Given the description of an element on the screen output the (x, y) to click on. 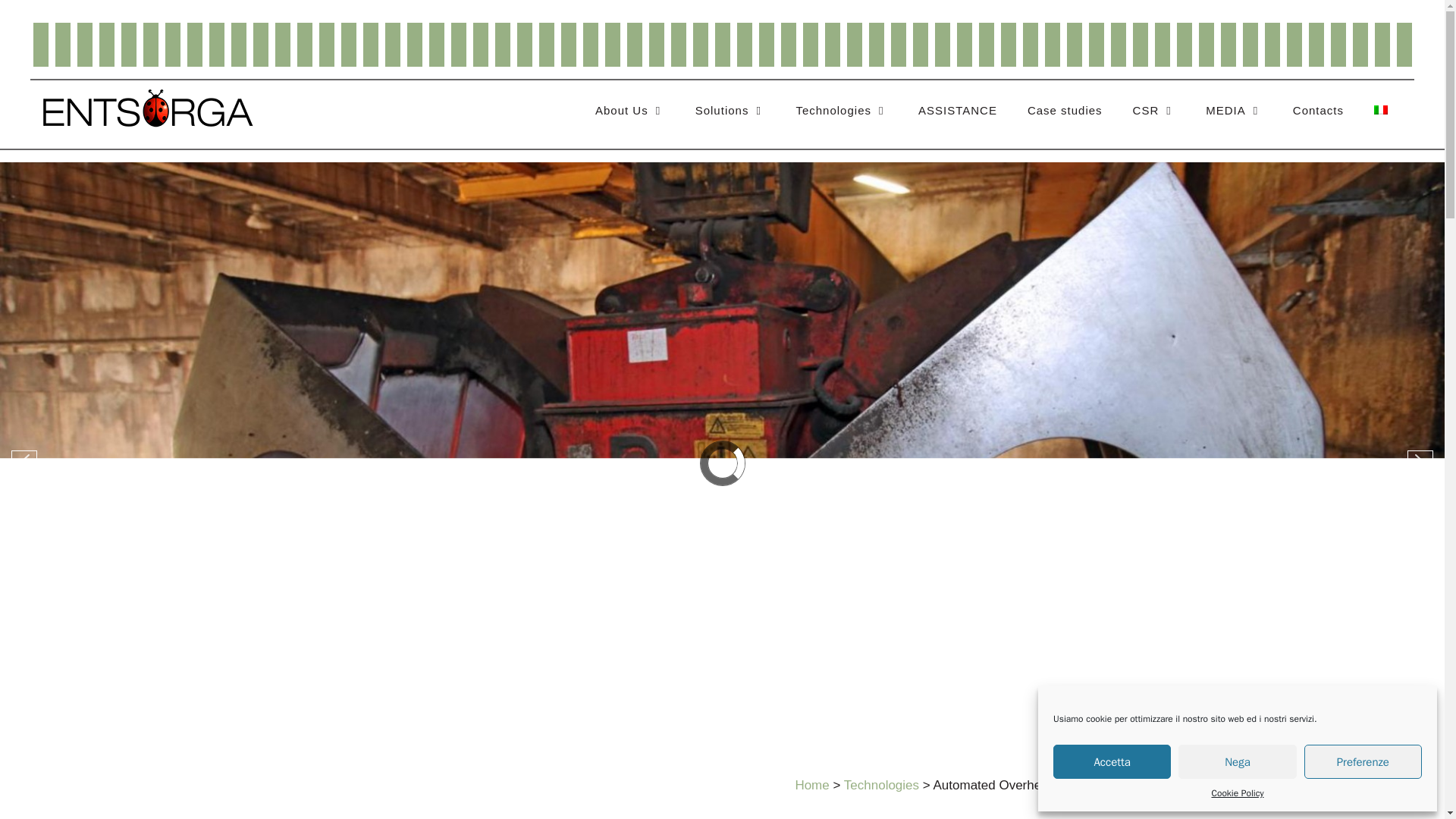
Entsorga (147, 107)
MEDIA (1234, 110)
Entsorga (147, 107)
Case studies (1064, 110)
About Us (629, 110)
Nega (1236, 761)
Technologies (841, 110)
Preferenze (1363, 761)
CSR (1154, 110)
Solutions (729, 110)
ASSISTANCE (956, 110)
Accetta (1111, 761)
Cookie Policy (1237, 793)
